Given the description of an element on the screen output the (x, y) to click on. 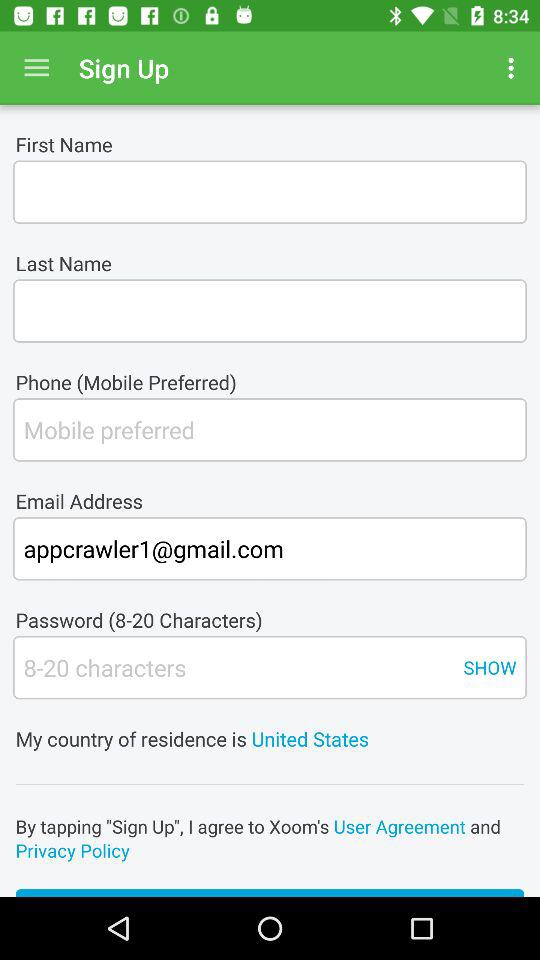
jump to appcrawler1@gmail.com item (269, 548)
